Given the description of an element on the screen output the (x, y) to click on. 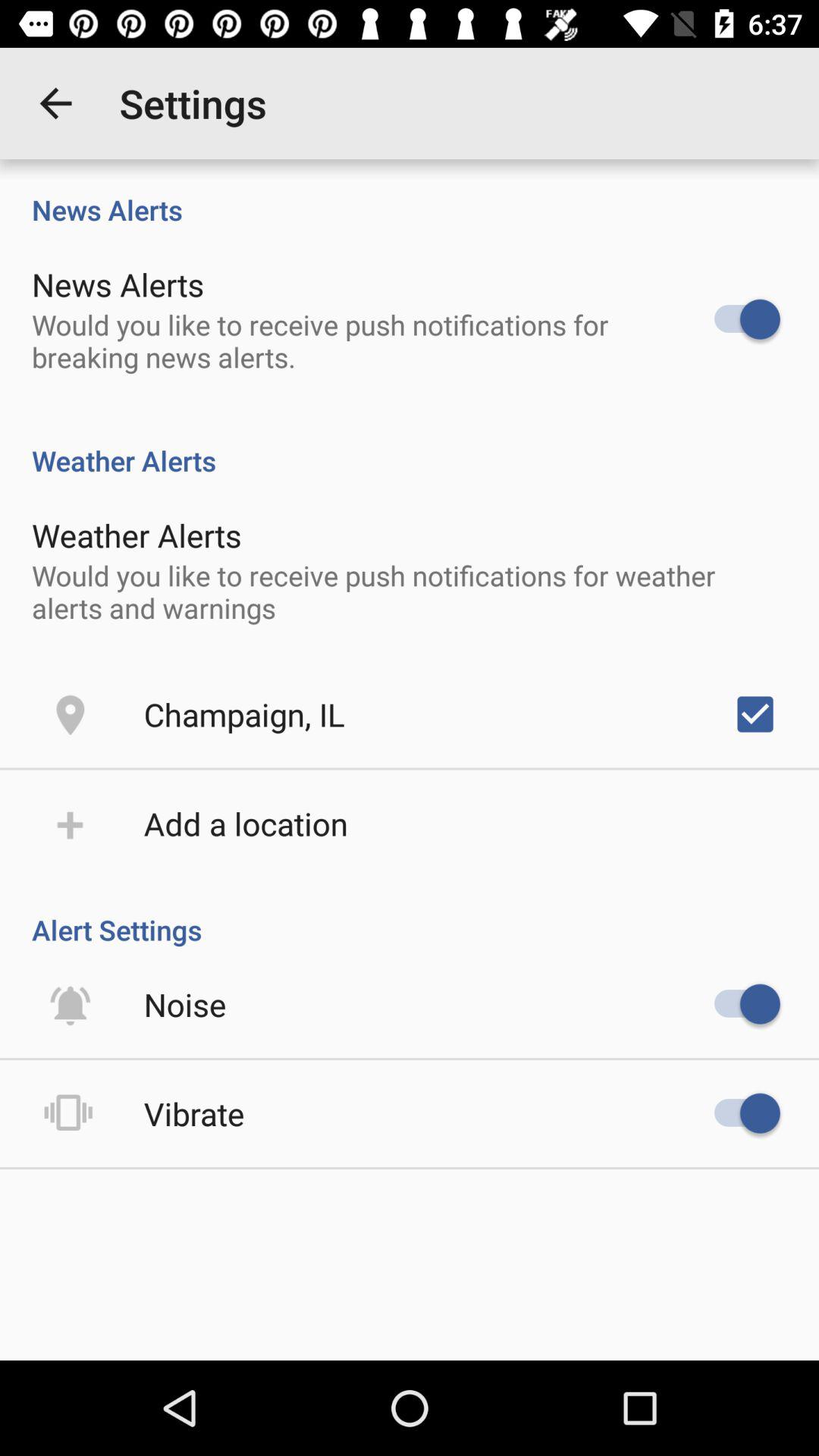
click the noise (184, 1004)
